Given the description of an element on the screen output the (x, y) to click on. 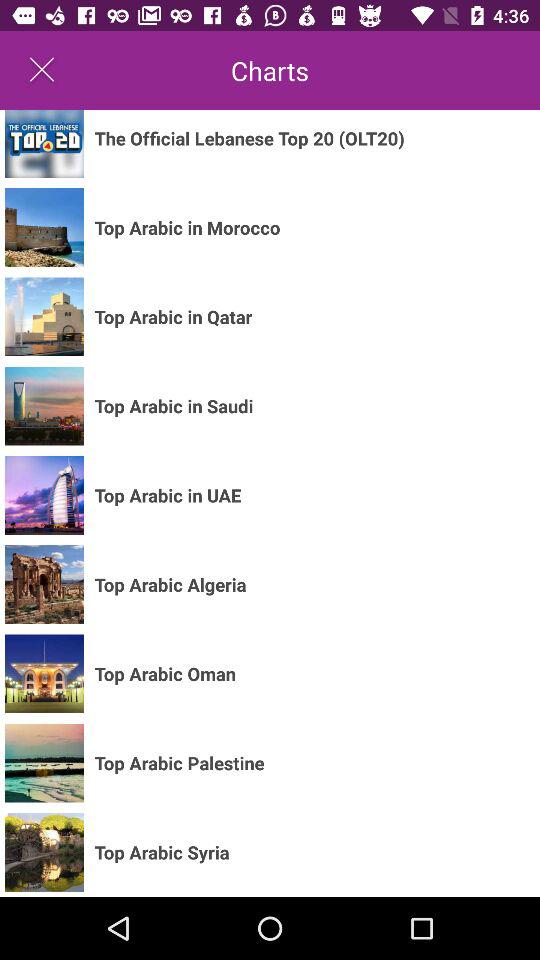
close page (42, 70)
